Given the description of an element on the screen output the (x, y) to click on. 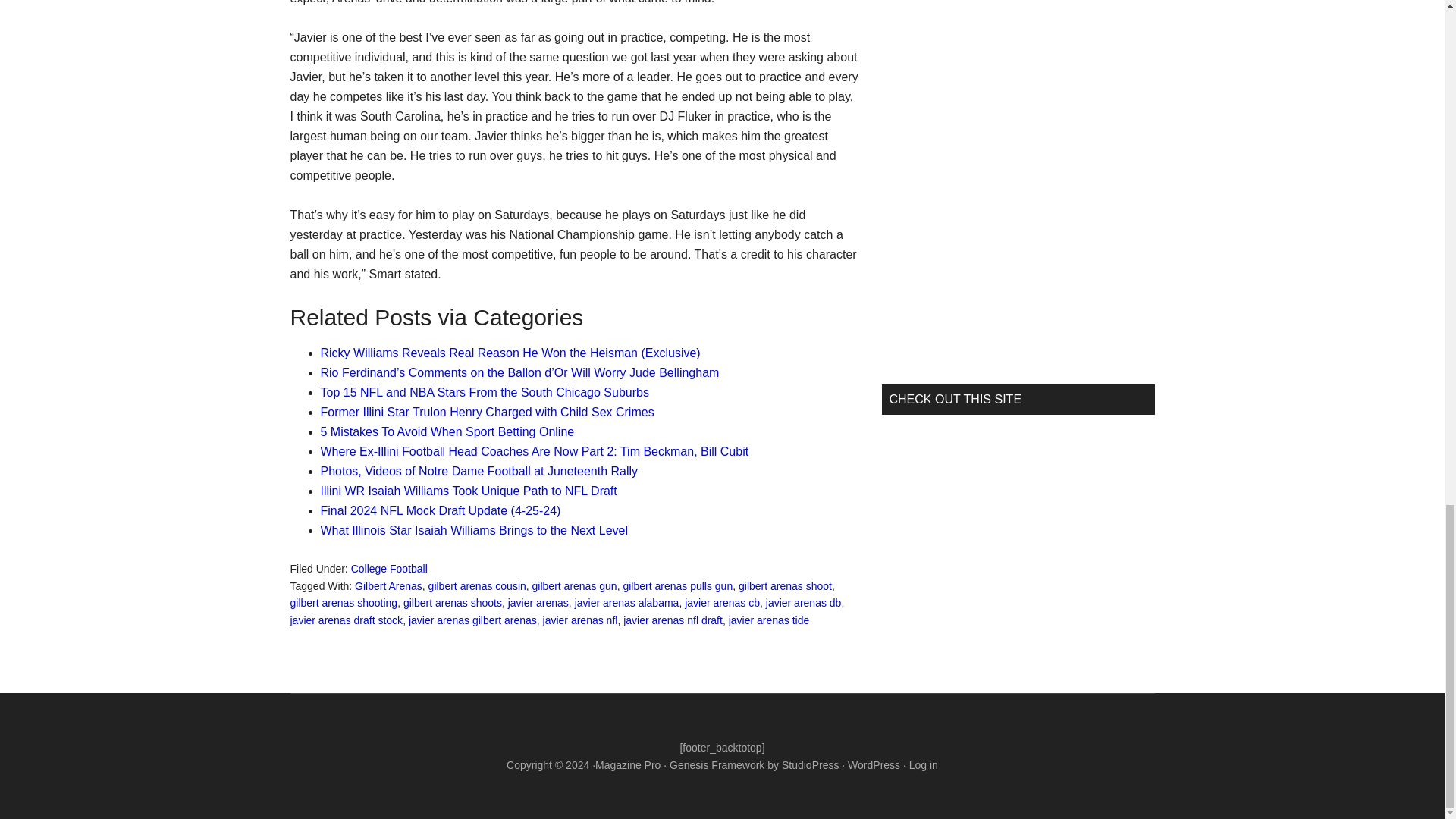
Photos, Videos of Notre Dame Football at Juneteenth Rally (478, 471)
Gilbert Arenas (388, 585)
Illini WR Isaiah Williams Took Unique Path to NFL Draft (467, 490)
gilbert arenas cousin (476, 585)
gilbert arenas shoot (784, 585)
gilbert arenas pulls gun (677, 585)
What Illinois Star Isaiah Williams Brings to the Next Level (473, 530)
5 Mistakes To Avoid When Sport Betting Online (446, 431)
College Football (389, 568)
gilbert arenas gun (574, 585)
5 Mistakes To Avoid When Sport Betting Online (446, 431)
Top 15 NFL and NBA Stars From the South Chicago Suburbs (483, 391)
gilbert arenas shooting (343, 603)
